Given the description of an element on the screen output the (x, y) to click on. 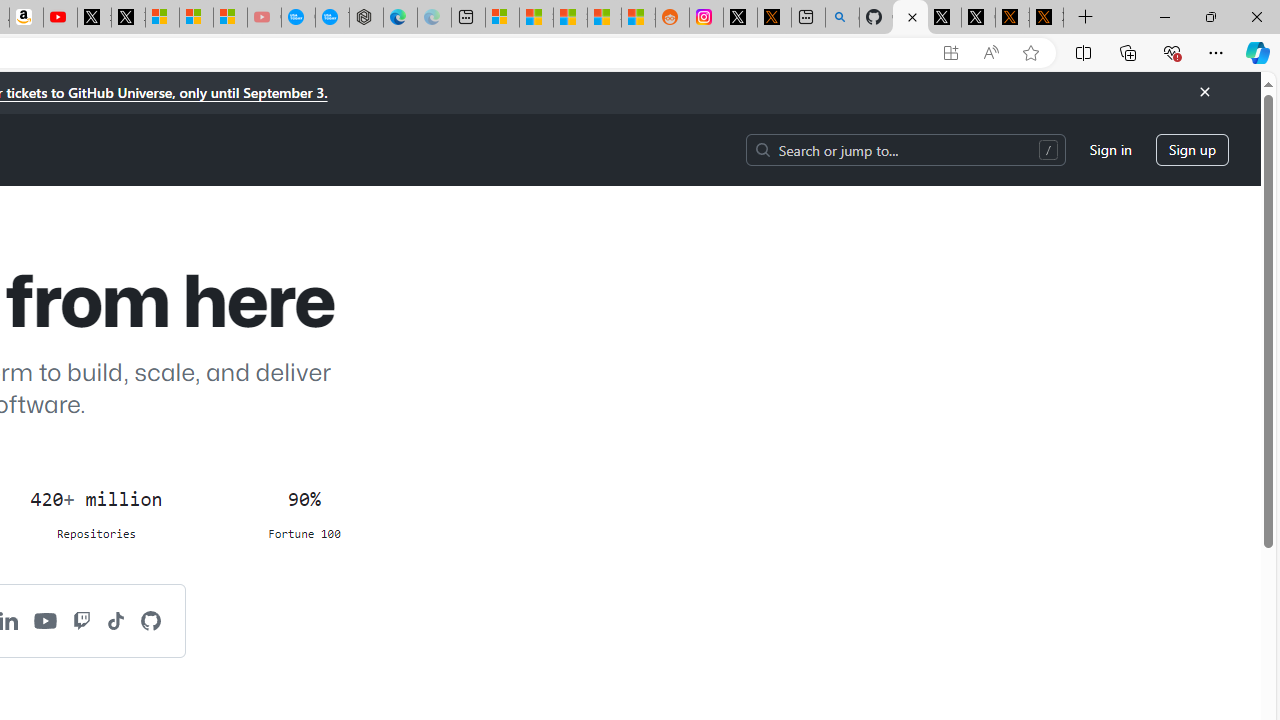
GitHub on YouTube (45, 620)
Opinion: Op-Ed and Commentary - USA TODAY (297, 17)
